Given the description of an element on the screen output the (x, y) to click on. 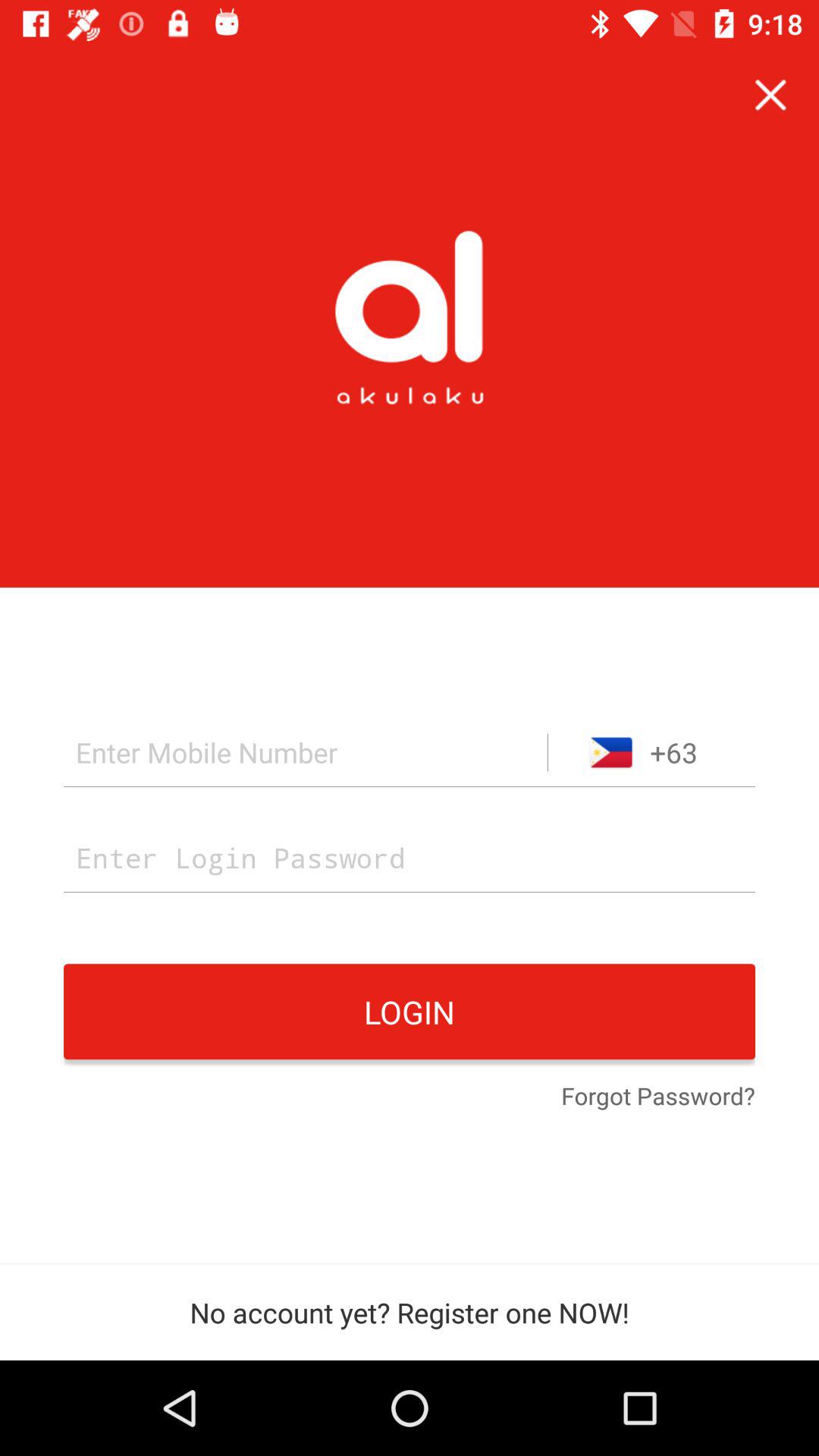
enter user login password (409, 857)
